Given the description of an element on the screen output the (x, y) to click on. 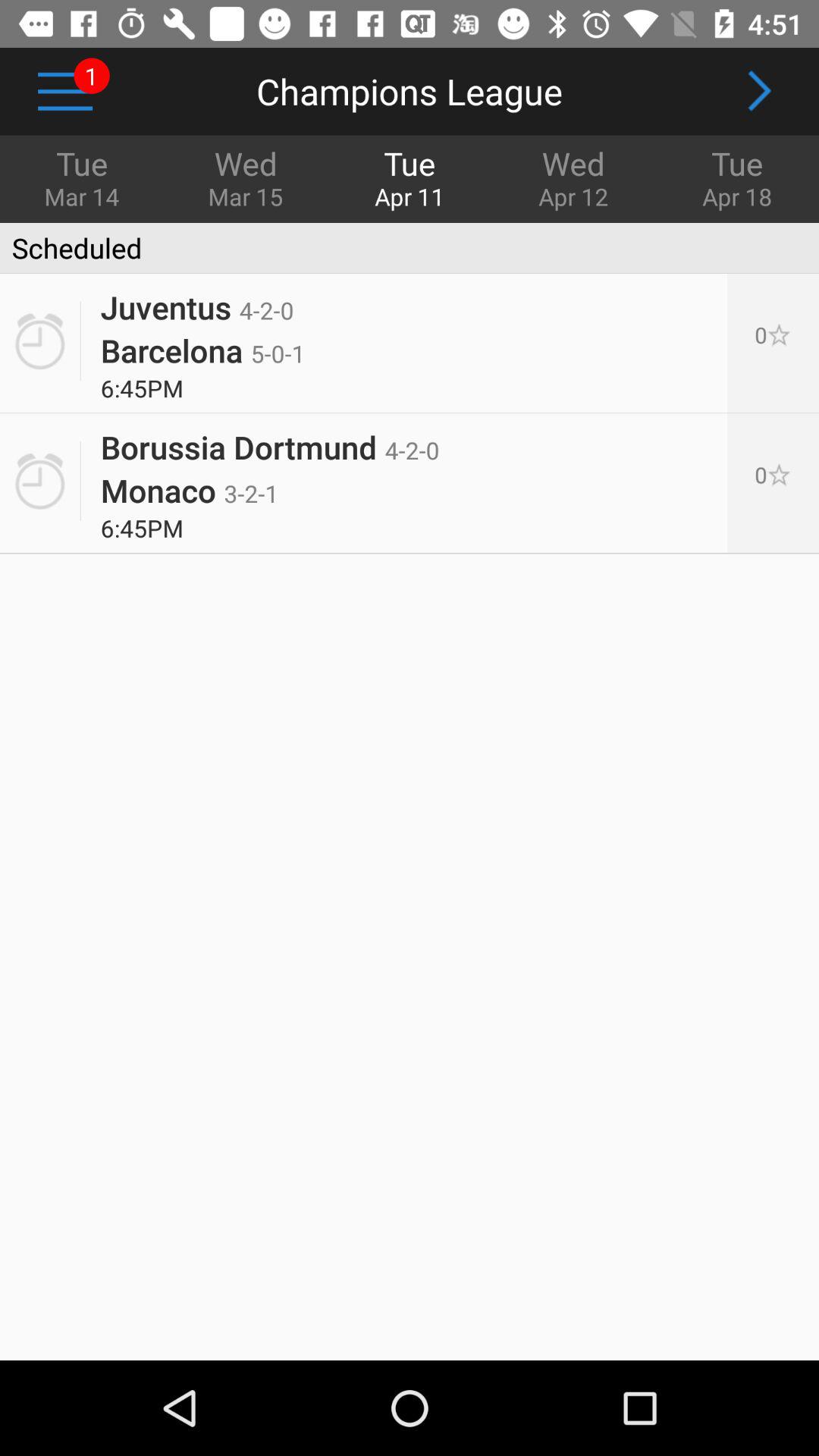
open the icon below the champions league item (245, 176)
